Given the description of an element on the screen output the (x, y) to click on. 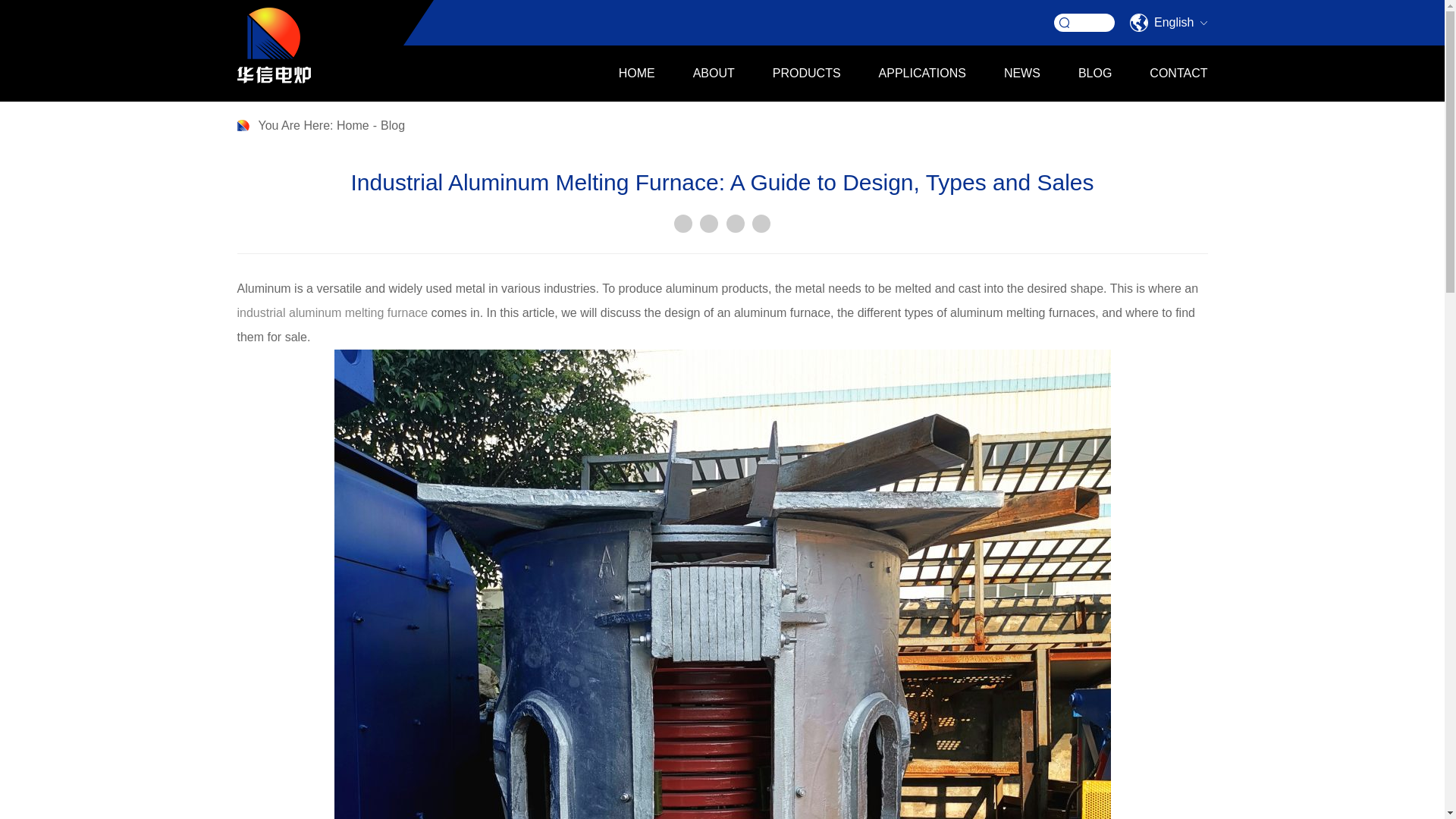
logo (272, 45)
BLOG (1095, 73)
APPLICATIONS (922, 73)
CONTACT (1169, 73)
NEWS (1022, 73)
PRODUCTS (807, 73)
